Given the description of an element on the screen output the (x, y) to click on. 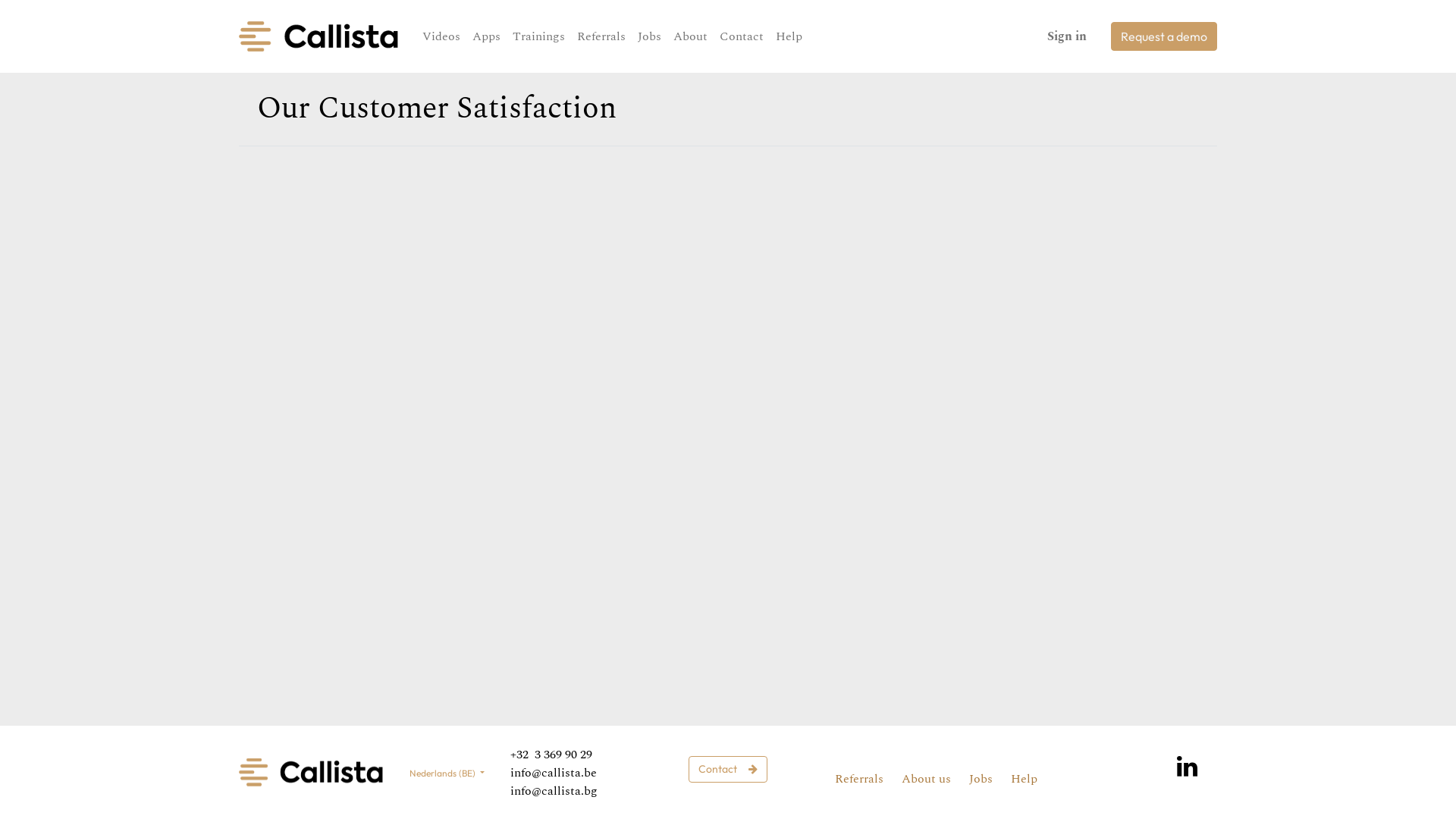
Trainings Element type: text (538, 36)
Apps Element type: text (486, 36)
Nederlands (BE) Element type: text (446, 773)
Contact     Element type: text (727, 769)
Jobs Element type: text (649, 36)
Request a demo Element type: text (1163, 35)
Referrals Element type: text (858, 777)
Videos Element type: text (441, 36)
Referrals Element type: text (601, 36)
Help Element type: text (1023, 777)
Jobs Element type: text (980, 777)
About Element type: text (690, 36)
Contact Element type: text (741, 36)
  About us  Element type: text (924, 777)
Help Element type: text (788, 36)
   Element type: text (606, 790)
MijnBedrijf Element type: hover (310, 771)
Sign in Element type: text (1066, 36)
Callista Business Software Element type: hover (318, 36)
